Given the description of an element on the screen output the (x, y) to click on. 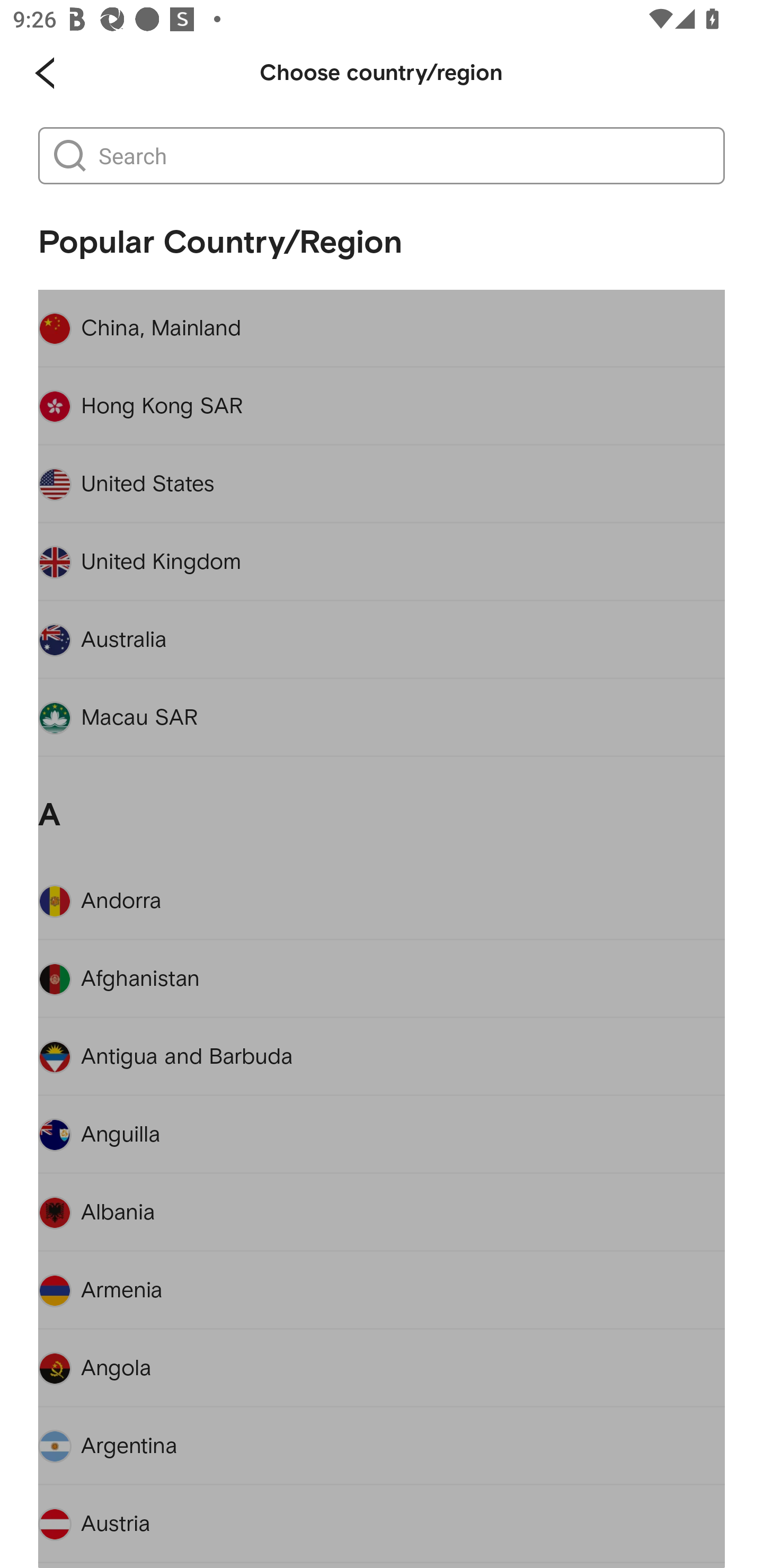
Search (401, 155)
